Given the description of an element on the screen output the (x, y) to click on. 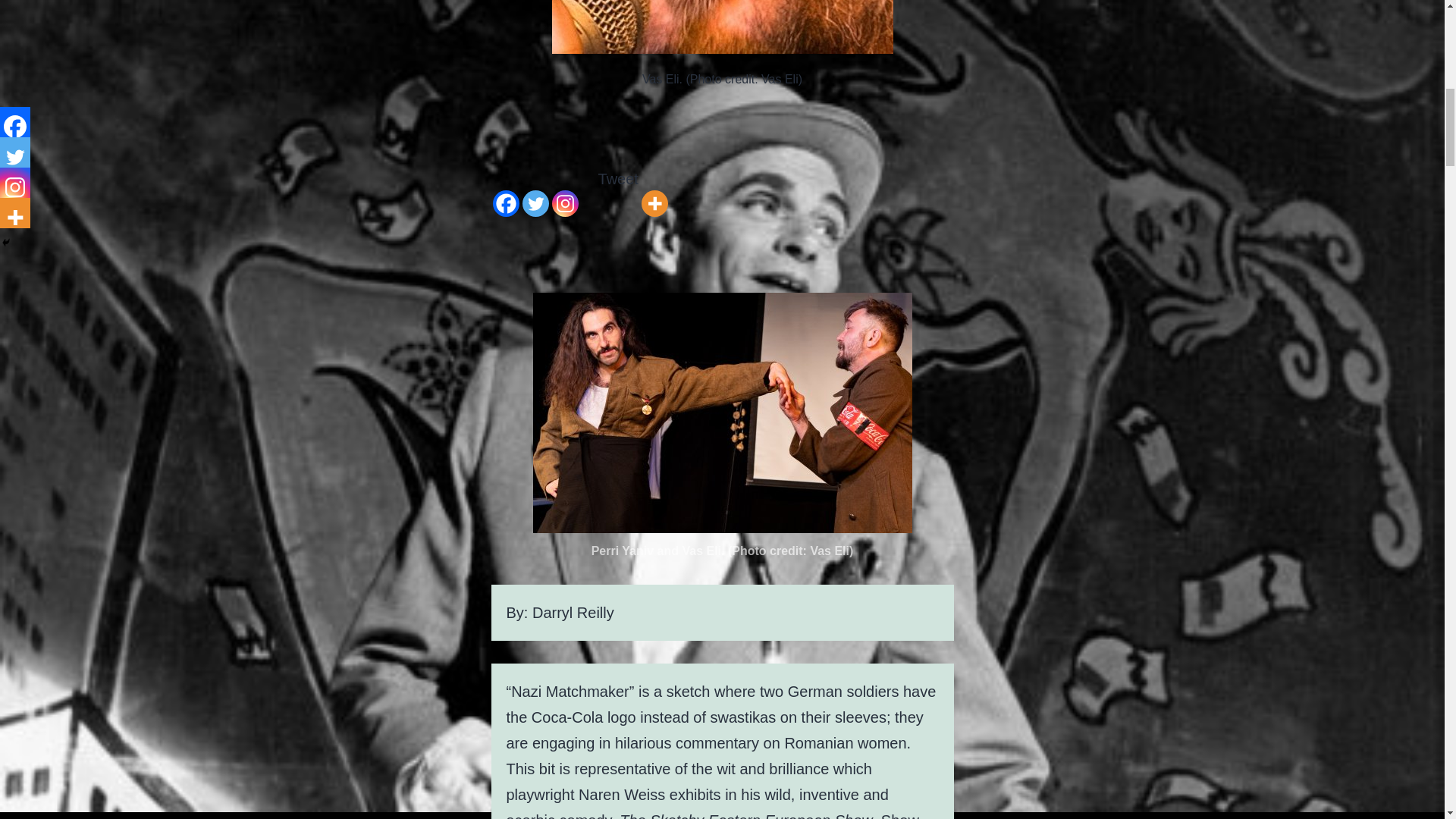
Twitter (534, 191)
Facebook (506, 191)
More (655, 191)
Instagram (564, 191)
Tweet (618, 178)
